Given the description of an element on the screen output the (x, y) to click on. 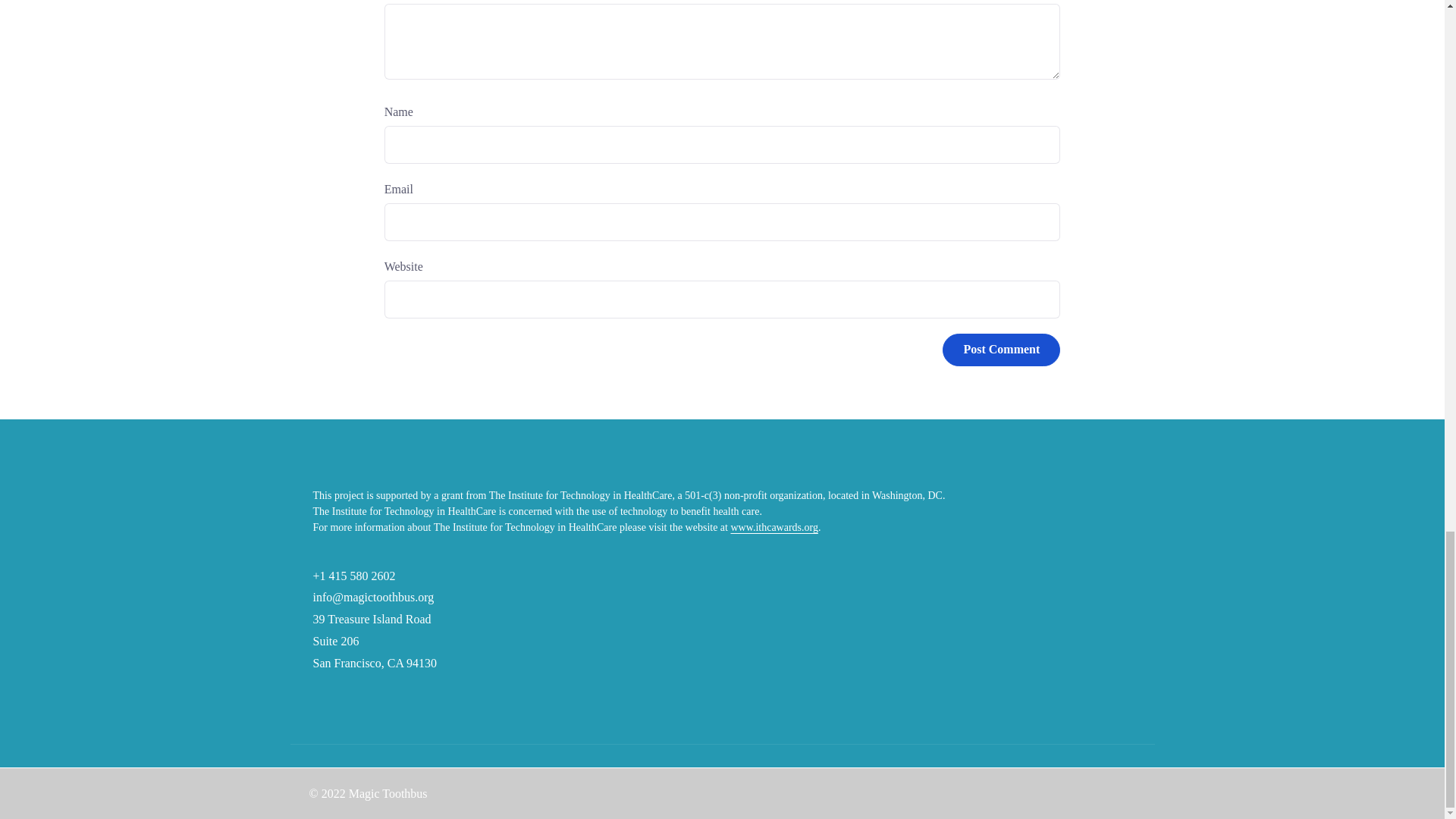
www.ithcawards.org (773, 527)
Post Comment (1000, 349)
Post Comment (1000, 349)
